Given the description of an element on the screen output the (x, y) to click on. 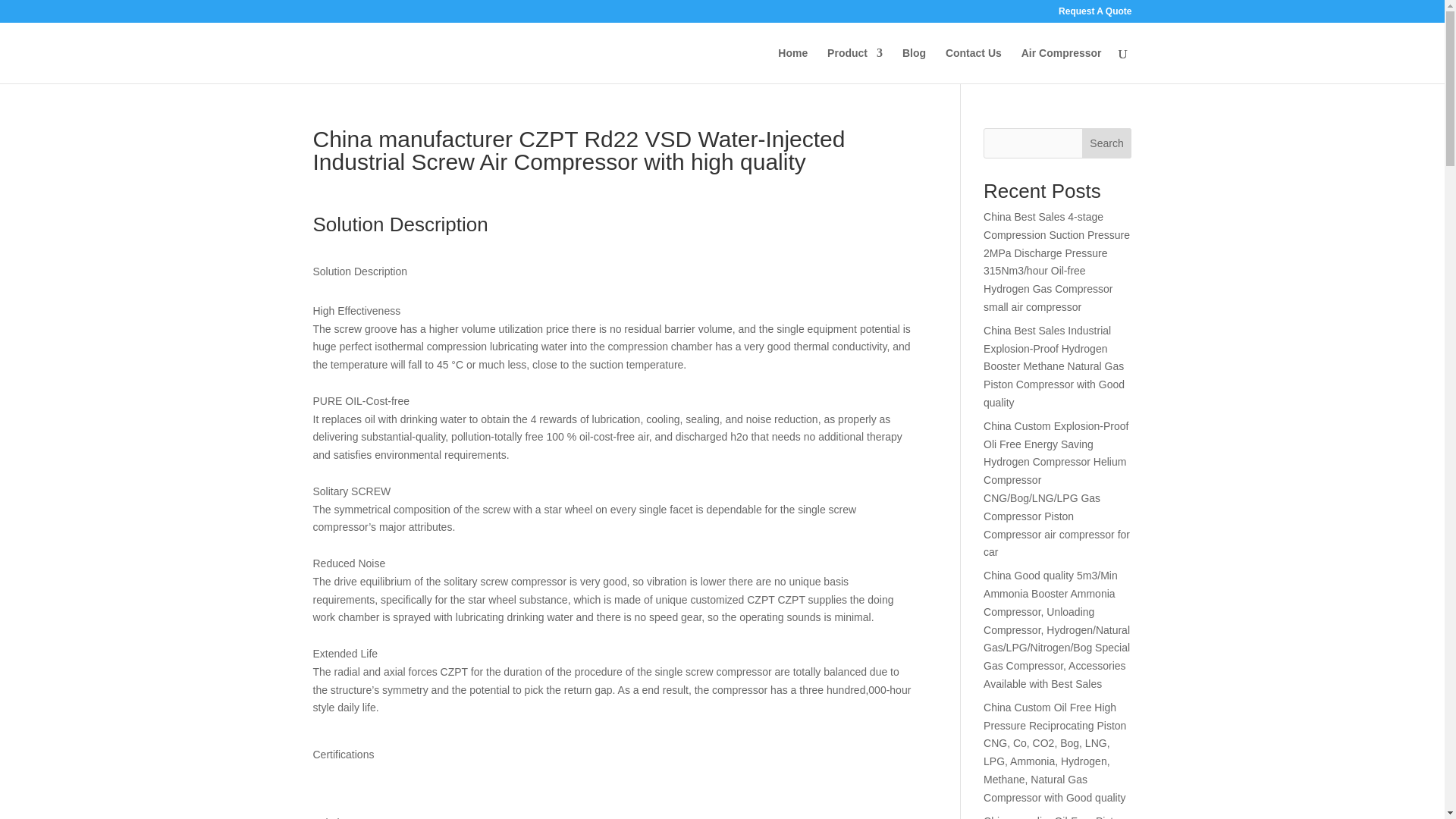
Air Compressor (1062, 65)
Request A Quote (1094, 14)
Search (1106, 142)
Contact Us (972, 65)
Product (854, 65)
